Given the description of an element on the screen output the (x, y) to click on. 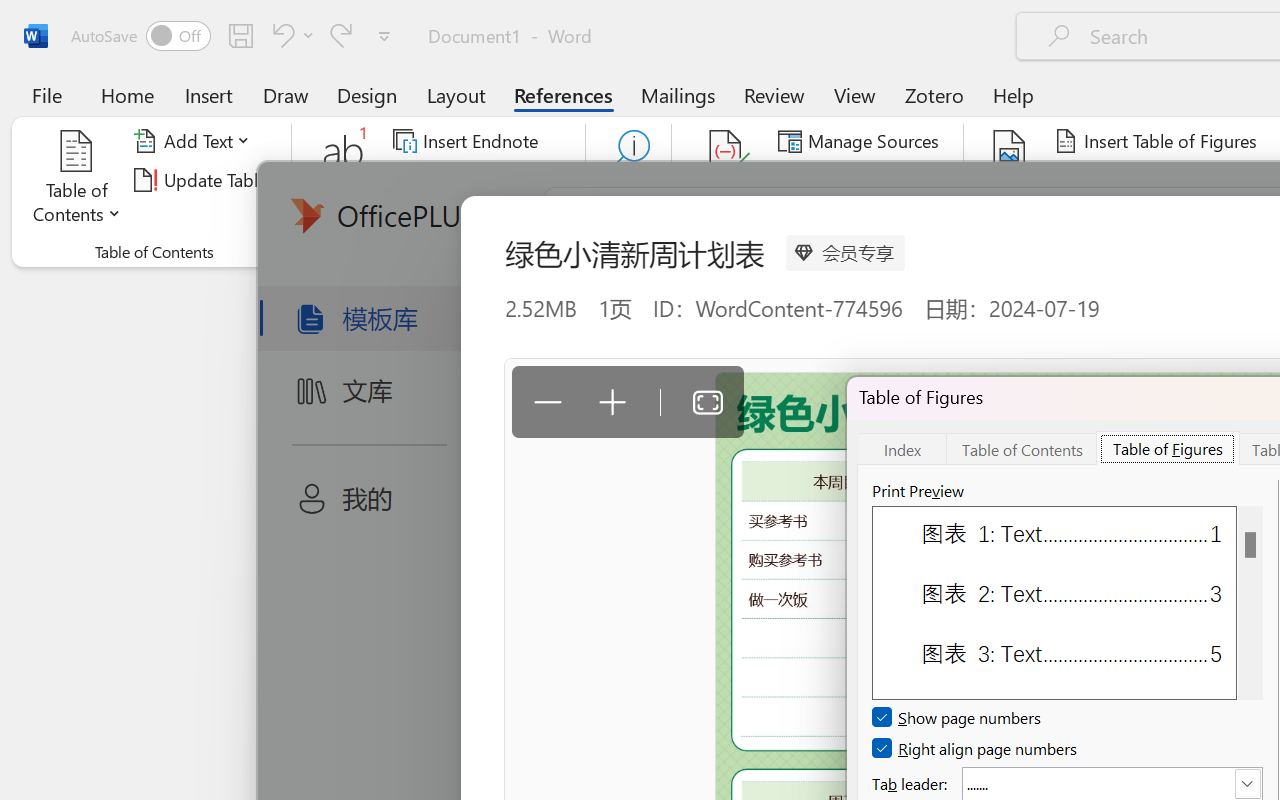
Next Footnote (468, 179)
Cross-reference... (1133, 218)
Show Notes (459, 218)
Footnote and Endnote Dialog... (573, 252)
Print Preview (1249, 602)
Search (628, 179)
Next Footnote (479, 179)
Manage Sources... (861, 141)
Style (901, 179)
